Given the description of an element on the screen output the (x, y) to click on. 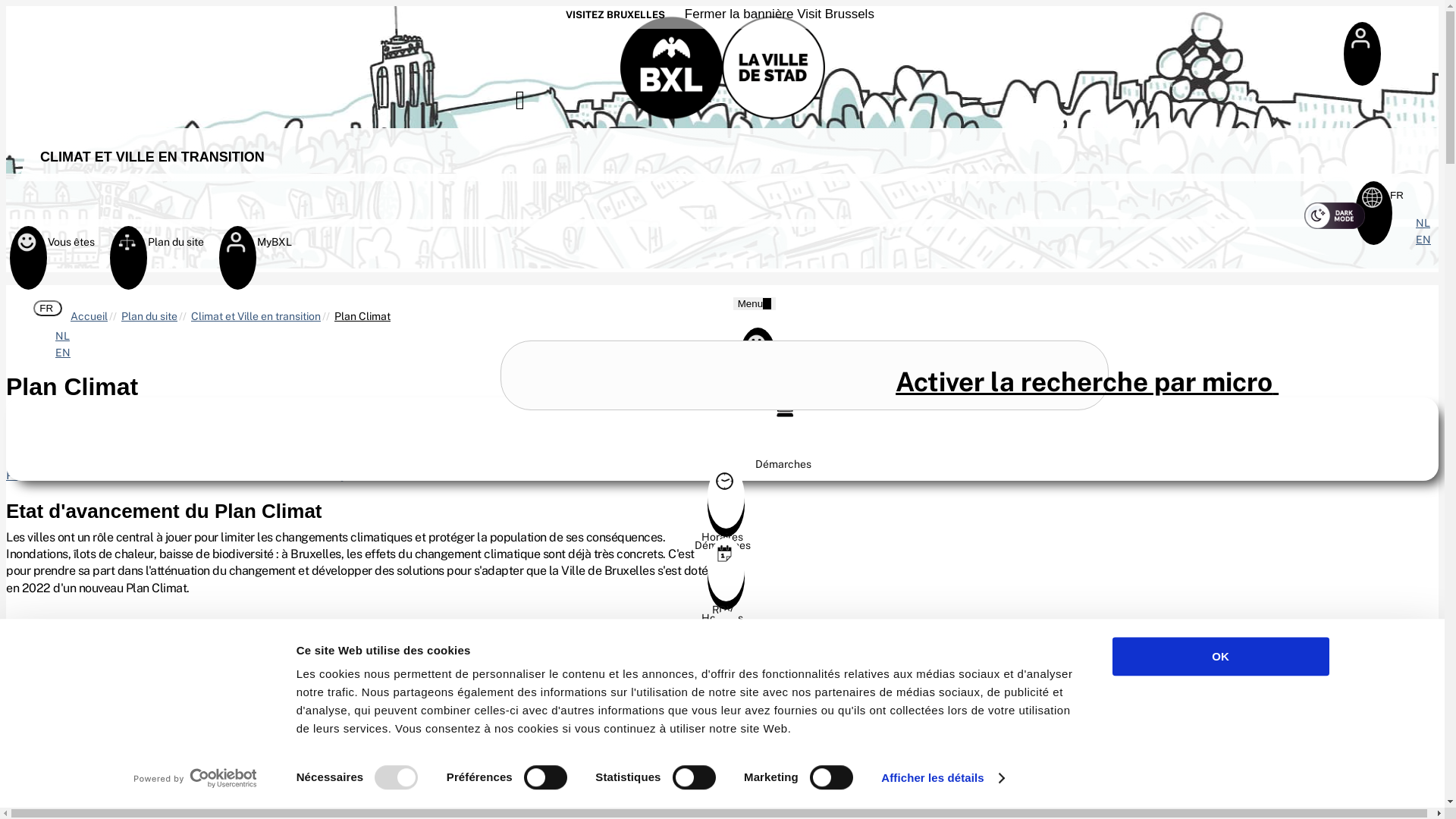
Plan du site Element type: text (126, 248)
RDV Element type: text (722, 603)
Plan Climat Element type: text (362, 316)
Plan du site Element type: text (149, 316)
MyBXL Element type: text (236, 248)
Climat et Ville en transition Element type: text (255, 316)
FR  Element type: text (1397, 194)
Rechercher Element type: hover (804, 375)
FR  Element type: text (47, 308)
Retour en haut de page Element type: text (1419, 748)
EN Element type: text (1422, 239)
En direct Element type: text (722, 757)
Plan Climat du territoire de la Ville de Bruxelles Element type: text (131, 458)
Horaires Element type: text (722, 530)
VISITEZ BRUXELLES Element type: text (615, 14)
EN Element type: text (62, 352)
Page d'accueil Ville de Bruxelles Element type: hover (722, 64)
Activer mode nuit
 Element type: hover (1334, 215)
Menu    Element type: text (754, 303)
NL Element type: text (1422, 222)
Vie politique Element type: text (722, 749)
Accueil Element type: text (88, 316)
Activer la recherche par micro  Element type: text (1086, 381)
OK Element type: text (1219, 656)
NL Element type: text (62, 335)
Horaires Element type: text (722, 611)
RDV Element type: text (722, 684)
Rechercher Element type: text (538, 102)
Plan du site Element type: text (722, 466)
En direct Element type: text (722, 676)
